Given the description of an element on the screen output the (x, y) to click on. 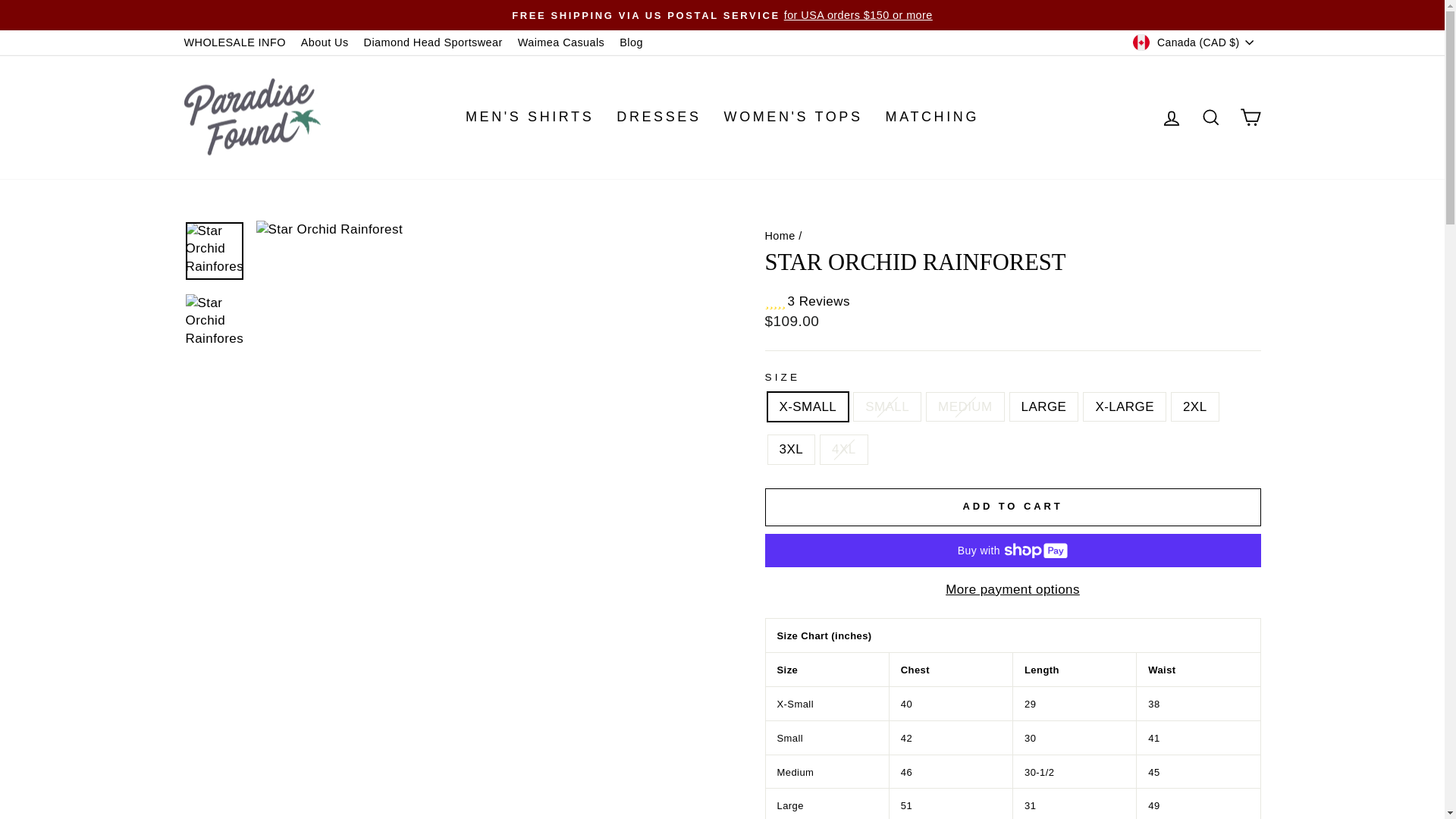
Back to the frontpage (779, 235)
